Given the description of an element on the screen output the (x, y) to click on. 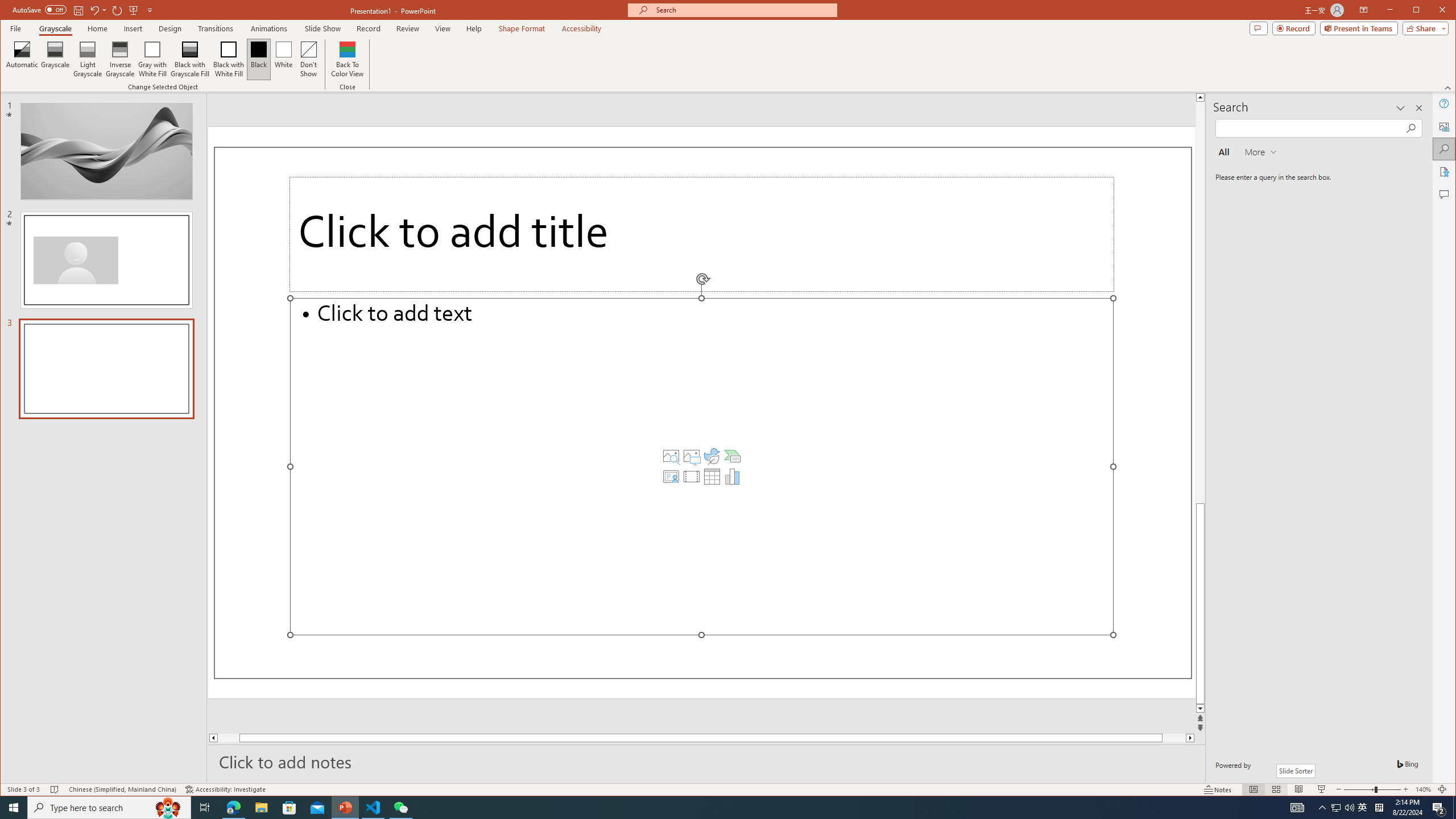
Content Placeholder (701, 466)
Back To Color View (347, 59)
